Given the description of an element on the screen output the (x, y) to click on. 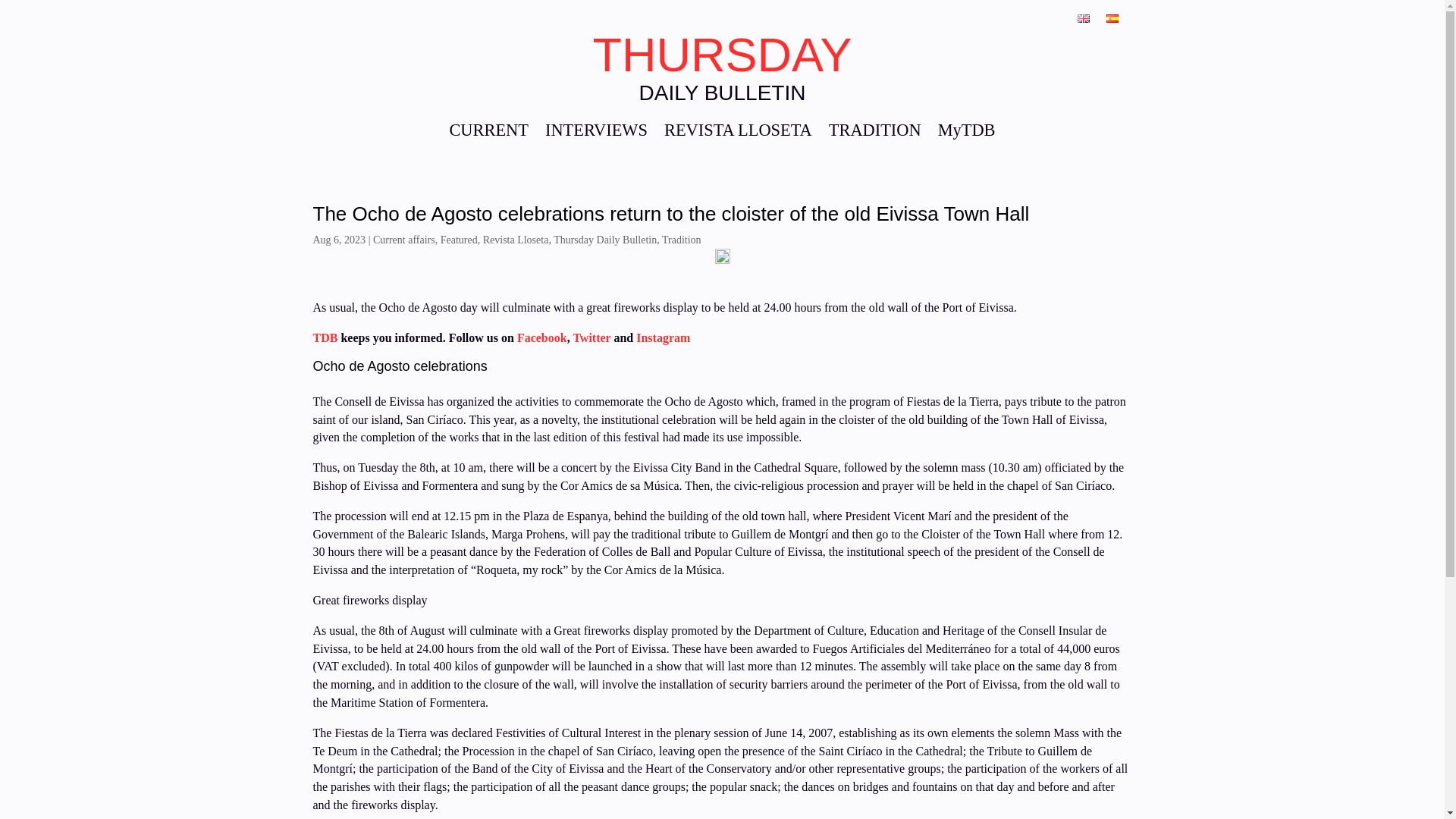
Revista Lloseta (515, 239)
TRADITION (874, 133)
Twitter  (592, 337)
 Facebook (540, 337)
TDB (325, 337)
REVISTA LLOSETA (737, 133)
MyTDB (966, 133)
Current affairs (403, 239)
Tradition (681, 239)
THURSDAY (721, 54)
